Given the description of an element on the screen output the (x, y) to click on. 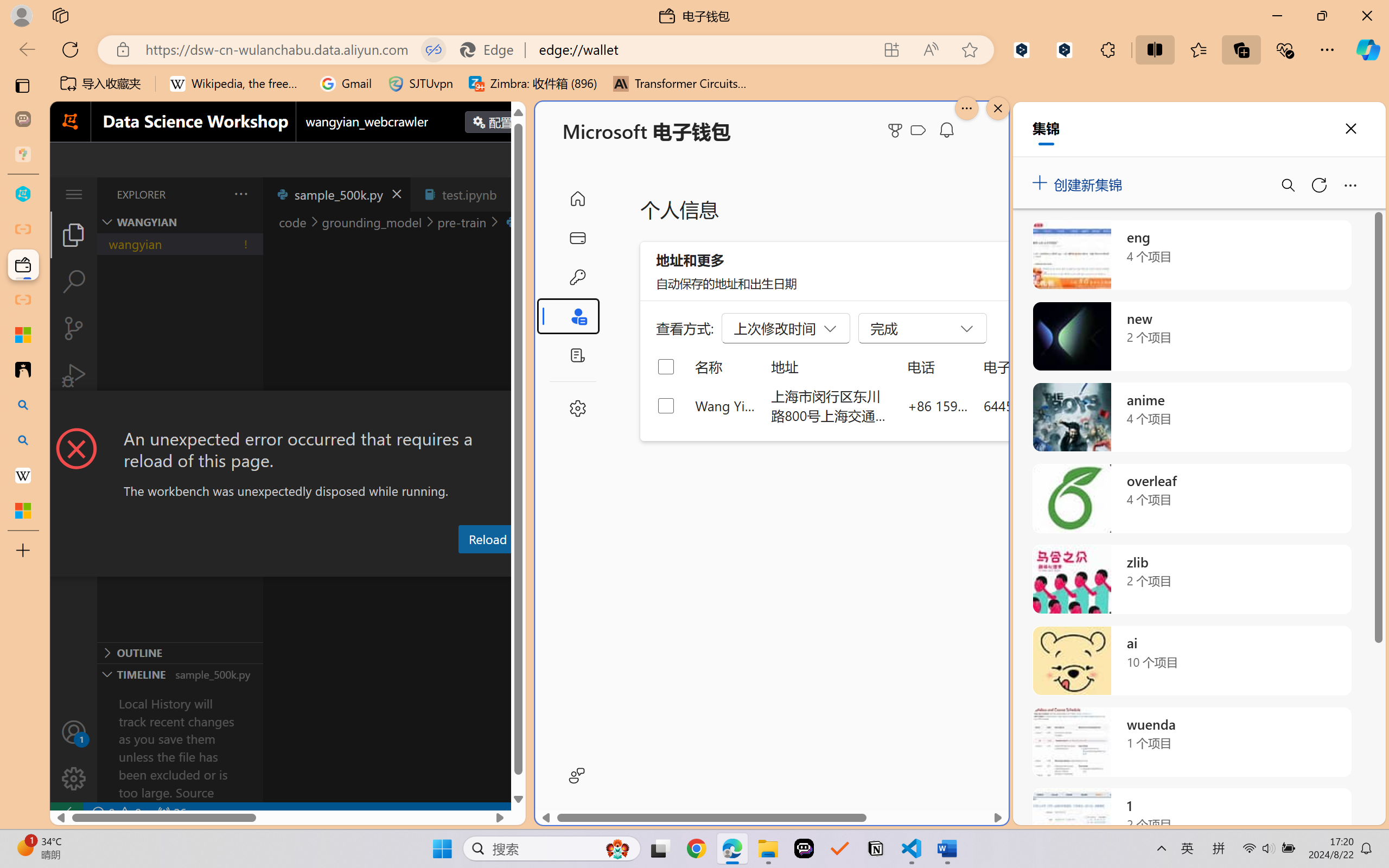
644553698@qq.com (1043, 405)
wangyian_dsw - DSW (22, 194)
Wang Yian (725, 405)
sample_500k.py (336, 194)
Accounts - Sign in requested (73, 732)
